Given the description of an element on the screen output the (x, y) to click on. 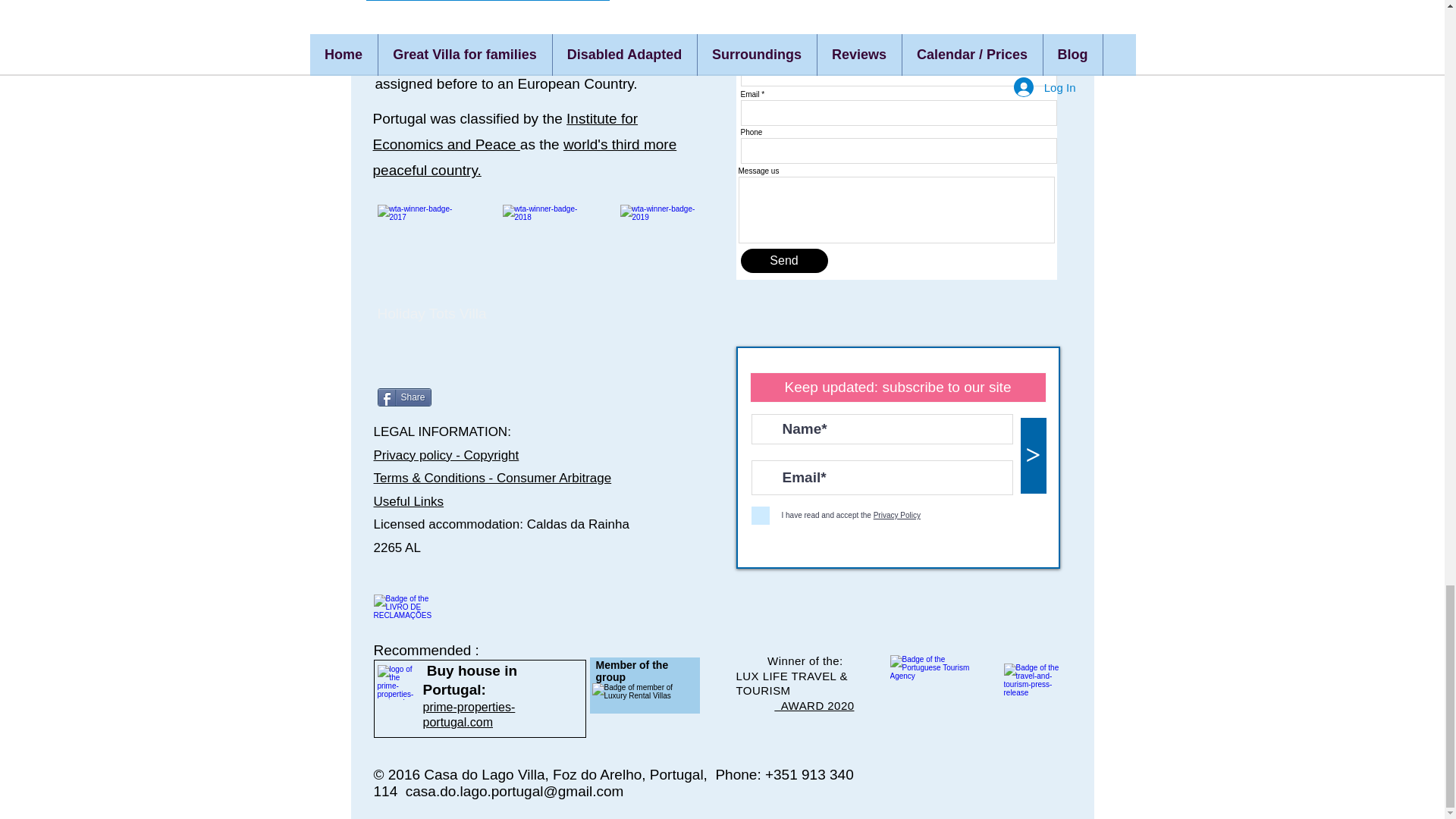
Casa do Lago Holiday Villa (643, 694)
travel and tourism press realease (1031, 691)
logo  (398, 682)
Share (403, 397)
Visit Portugal (932, 680)
